Given the description of an element on the screen output the (x, y) to click on. 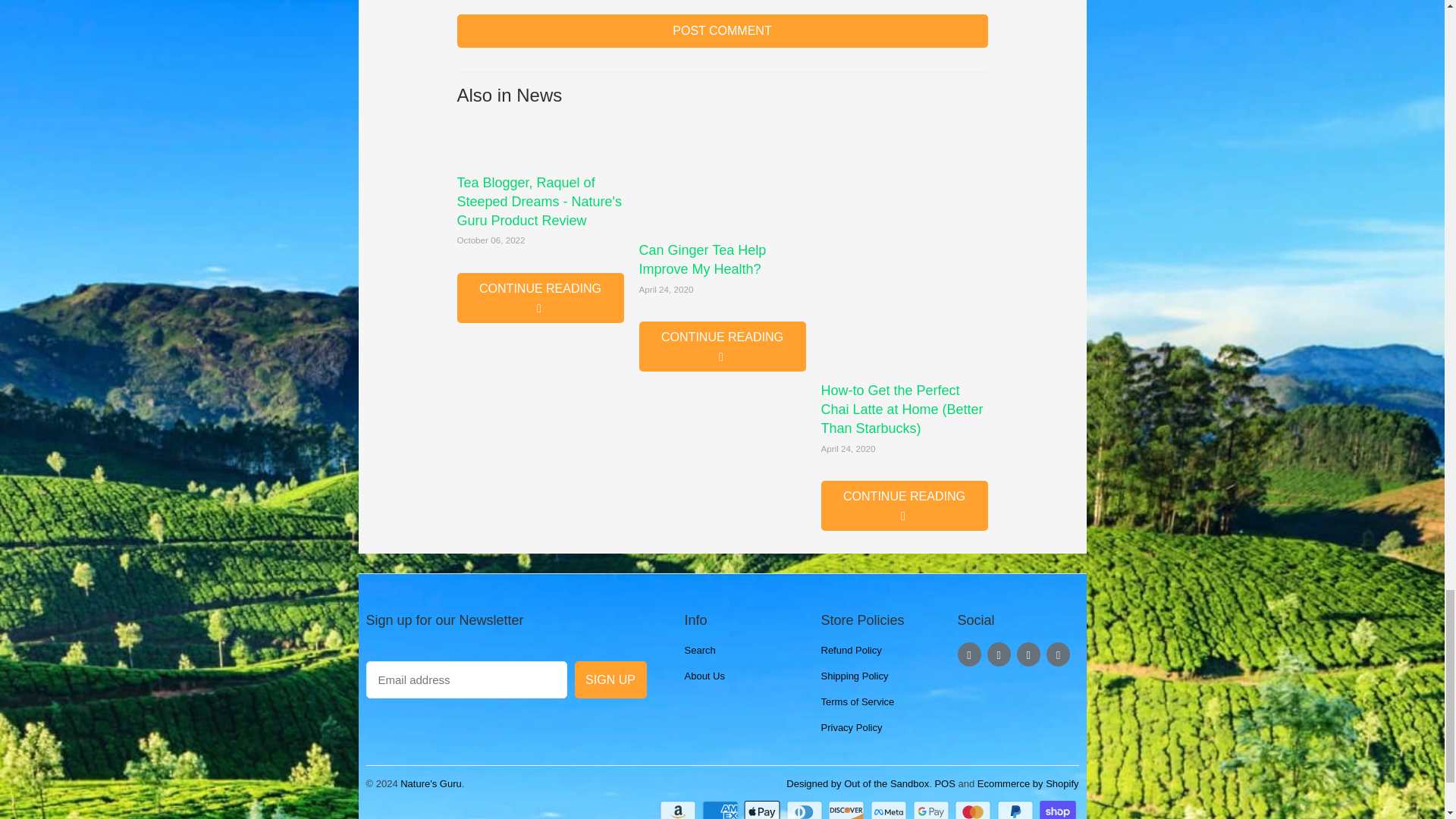
Apple Pay (763, 809)
Shop Pay (1058, 809)
Post comment (722, 30)
Mastercard (974, 809)
PayPal (1016, 809)
Sign Up (610, 679)
Can Ginger Tea Help Improve My Health? (722, 174)
Discover (847, 809)
Google Pay (932, 809)
Amazon (678, 809)
Meta Pay (890, 809)
Can Ginger Tea Help Improve My Health? (722, 346)
